Given the description of an element on the screen output the (x, y) to click on. 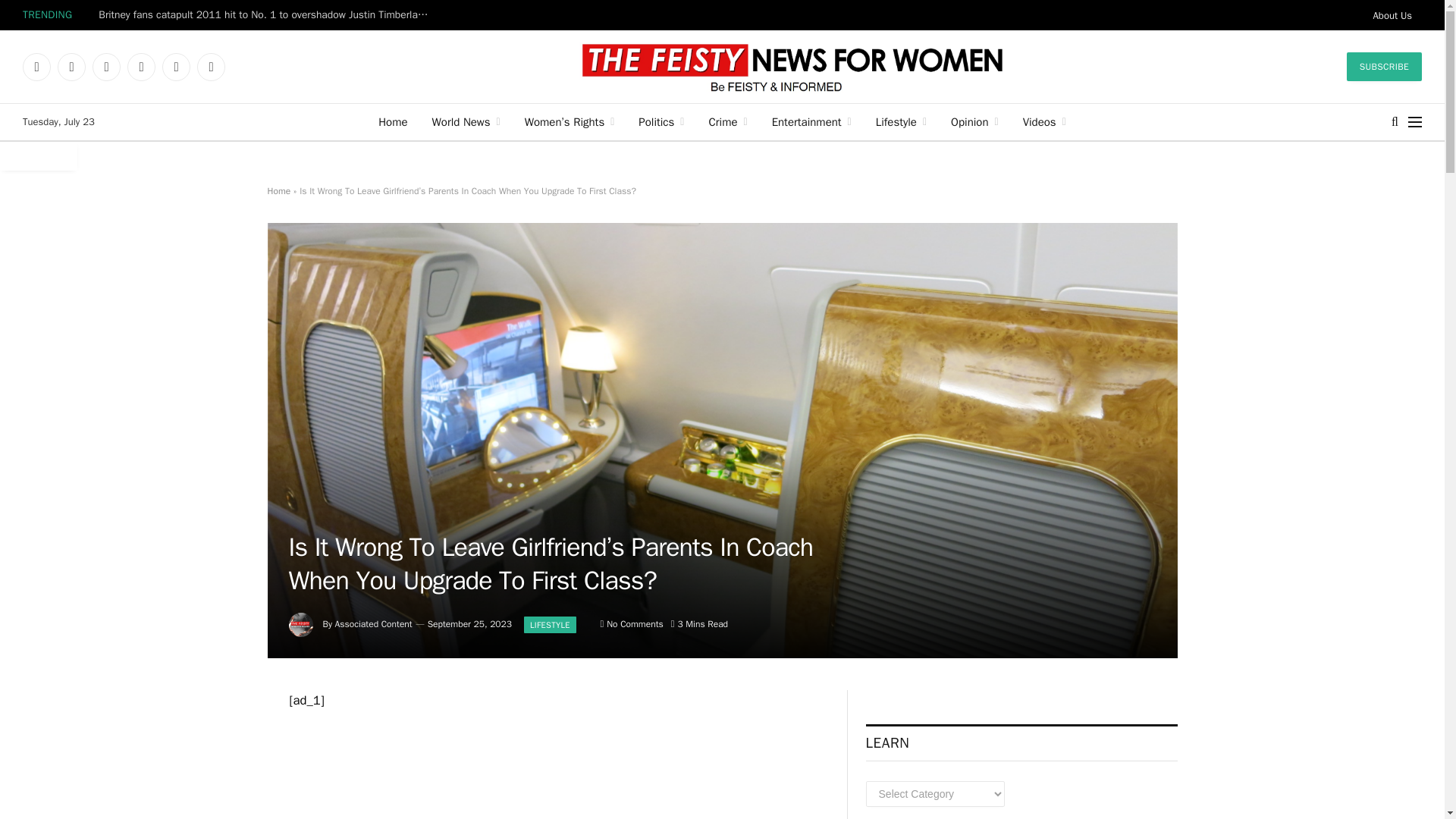
RSS (210, 67)
World News (466, 122)
About Us (1392, 15)
Instagram (106, 67)
Home (392, 122)
Facebook (36, 67)
SUBSCRIBE (1384, 66)
The Feisty News For Women (791, 66)
YouTube (141, 67)
TikTok (175, 67)
